Given the description of an element on the screen output the (x, y) to click on. 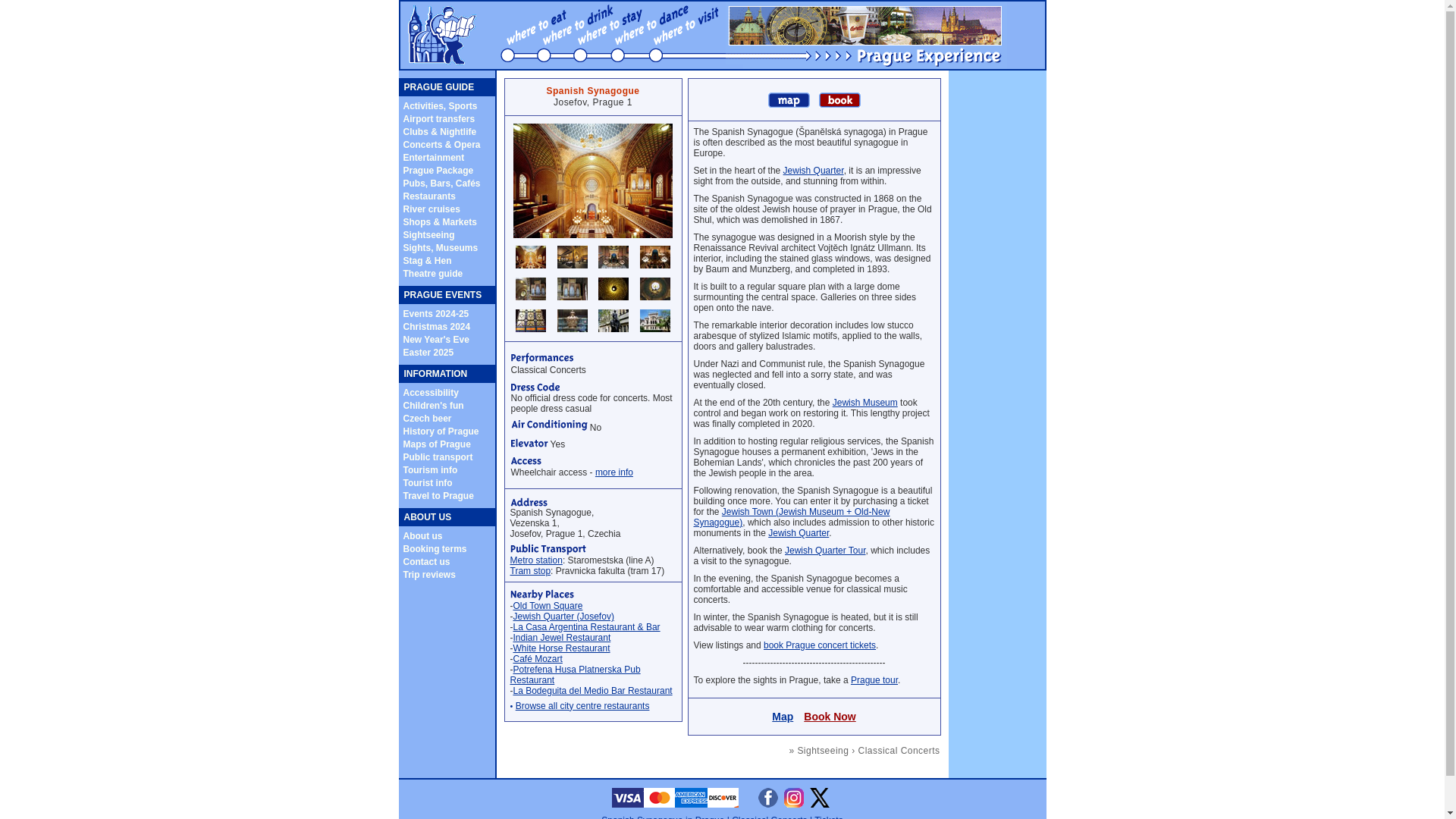
Booking terms (435, 547)
Sightseeing (428, 234)
About us (422, 535)
Public transport (438, 457)
Czech beer (427, 417)
Children's fun (433, 405)
Entertainment (433, 156)
Christmas 2024 (436, 326)
Activities, Sports (440, 104)
Trip reviews (429, 573)
Tourist info (427, 482)
PRAGUE EVENTS (442, 294)
New Year's Eve (435, 338)
Sights, Museums (441, 247)
Contact us (426, 561)
